Given the description of an element on the screen output the (x, y) to click on. 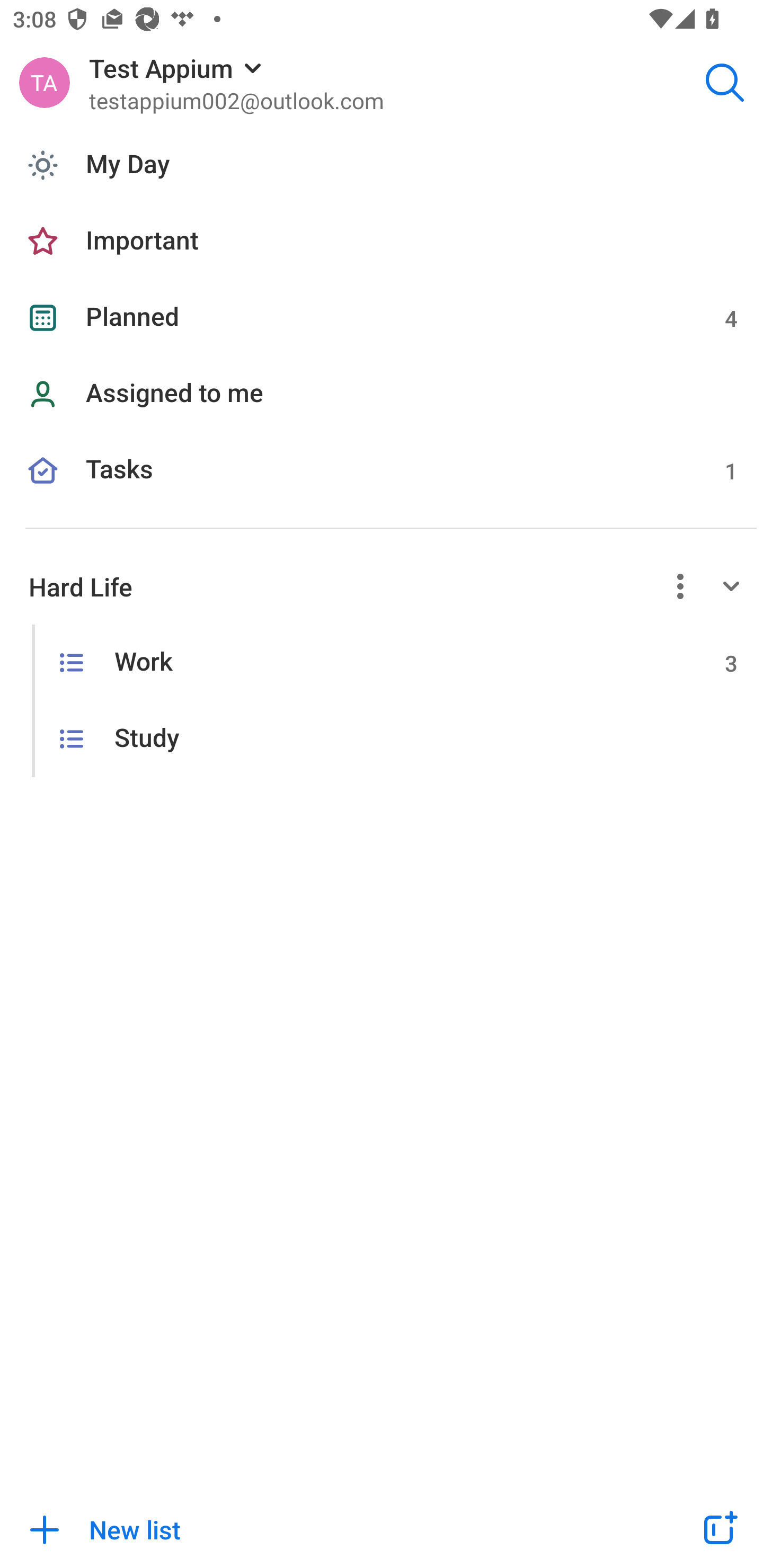
Study (381, 738)
